Given the description of an element on the screen output the (x, y) to click on. 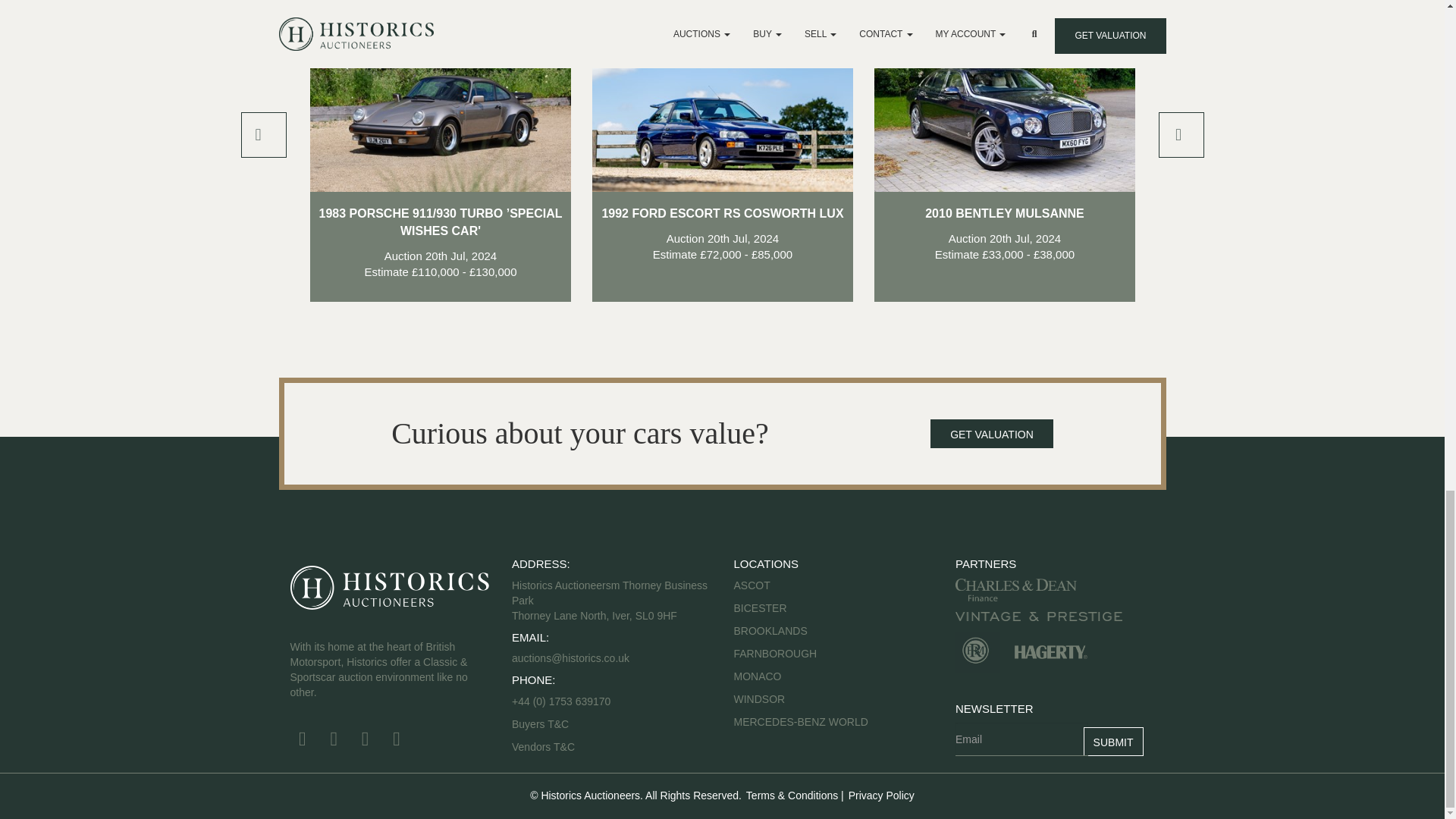
Submit (1112, 741)
Submit (328, 247)
